Given the description of an element on the screen output the (x, y) to click on. 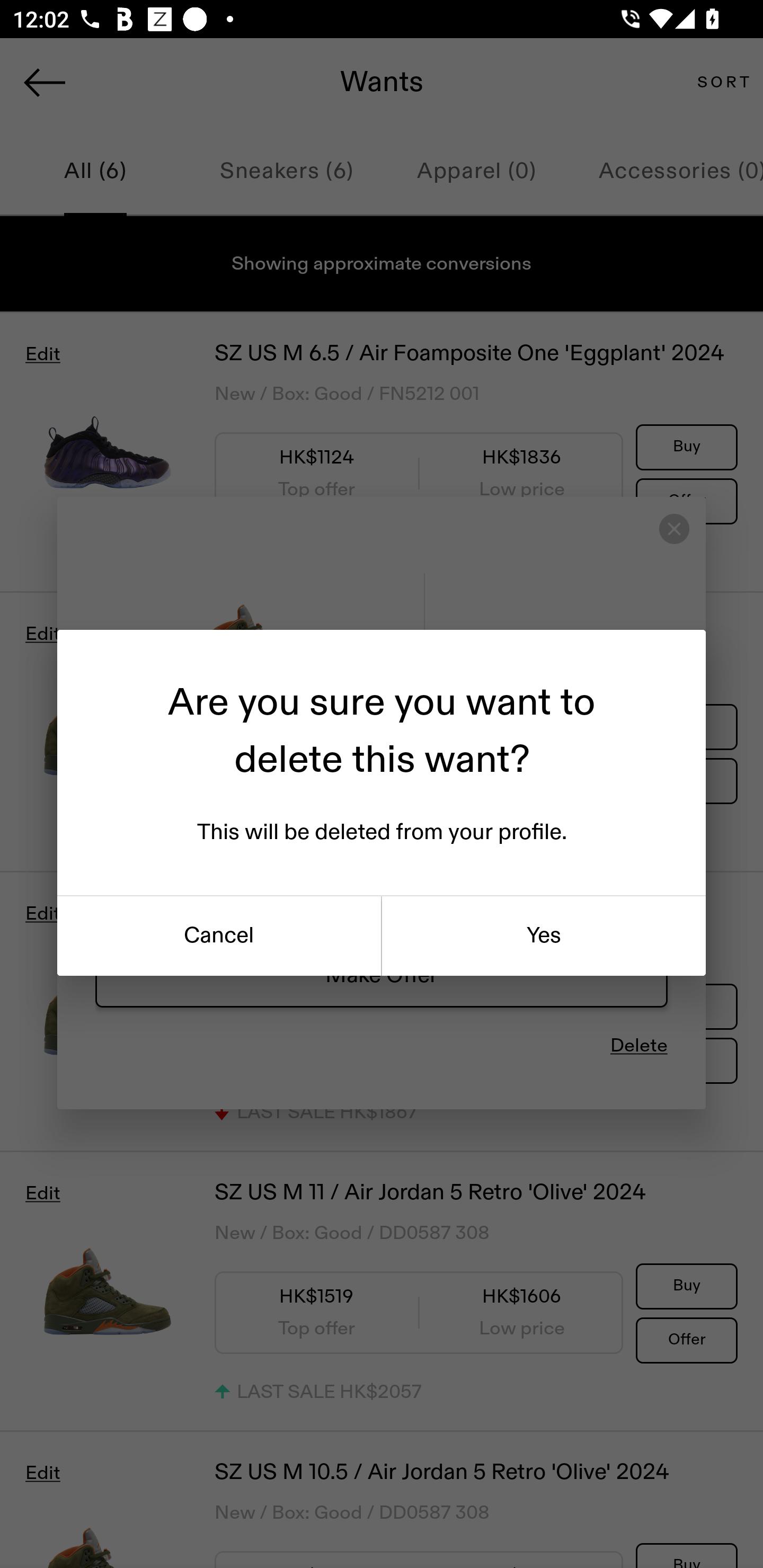
Cancel (218, 935)
Yes (543, 935)
